Given the description of an element on the screen output the (x, y) to click on. 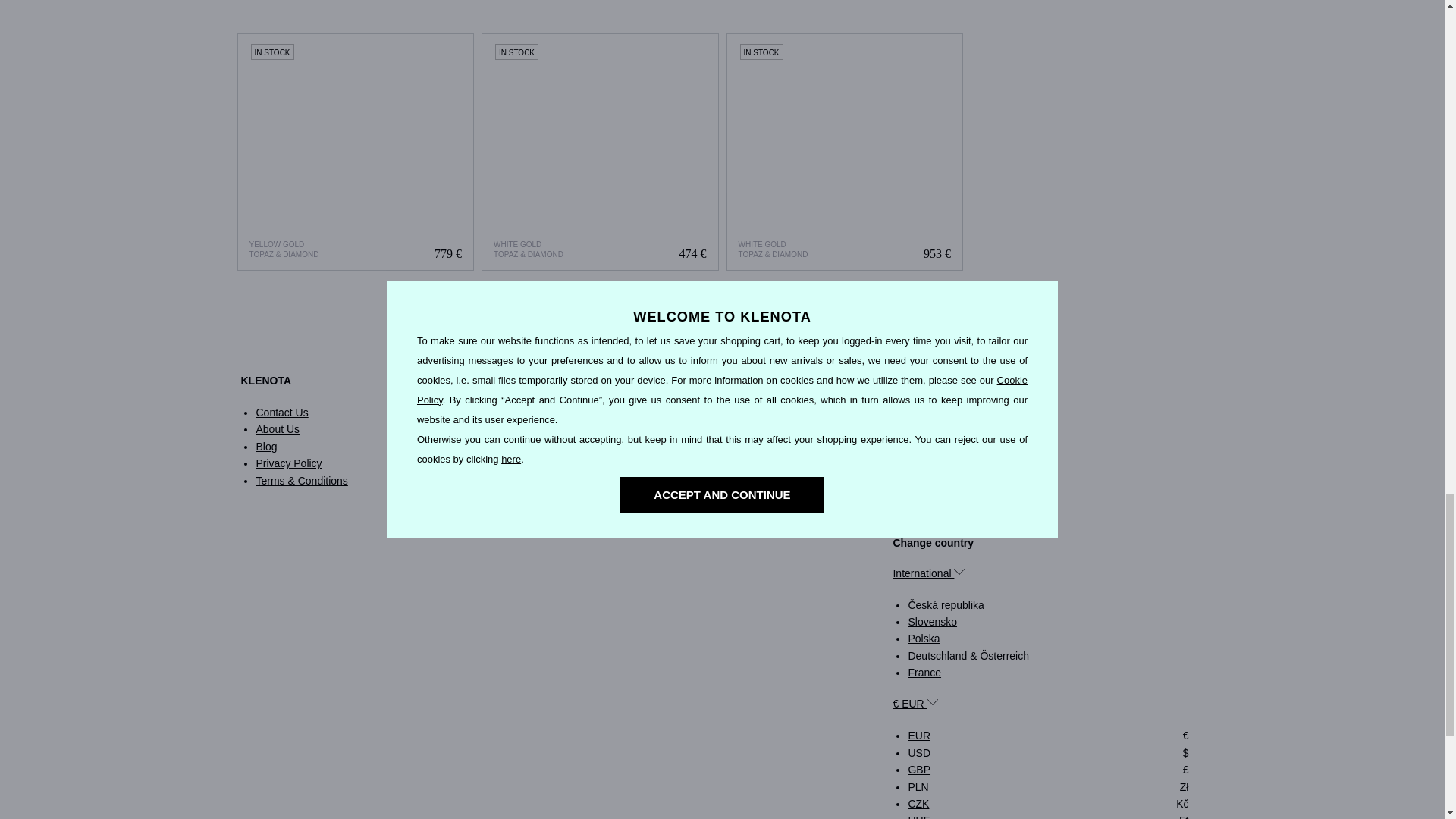
London Topaz and Diamond White Gold Earrings (844, 152)
Topaz and Diamond Pendant Earrings in Yellow Gold (356, 152)
London Topaz and Diamond White Gold Earrings (844, 152)
Topaz and Diamond Pendant Earrings in Yellow Gold (354, 152)
London Topaz and Diamond White Gold Necklace (600, 152)
London Topaz and Diamond White Gold Necklace (599, 152)
